Given the description of an element on the screen output the (x, y) to click on. 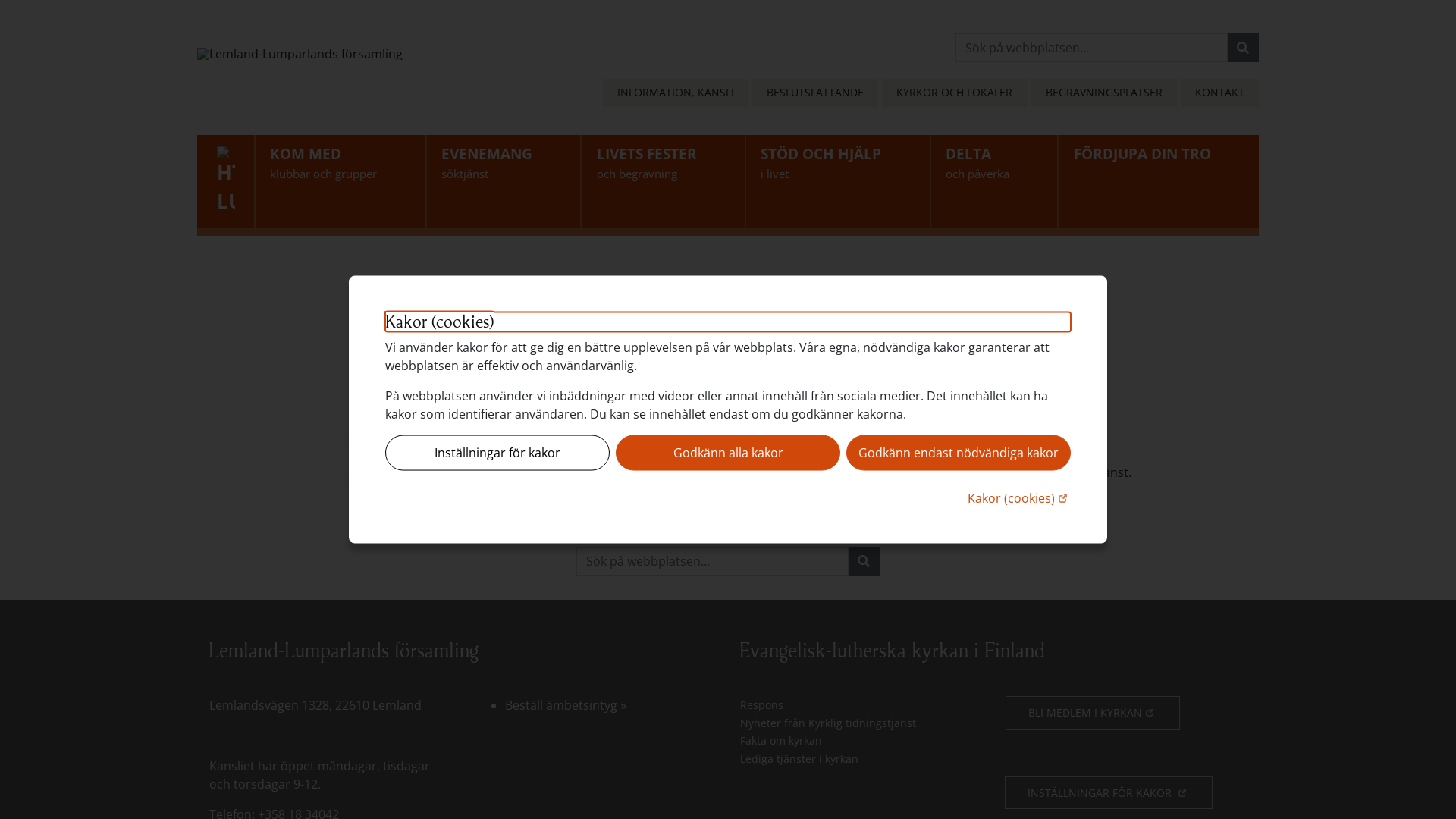
Respons Element type: text (860, 705)
Etusivu Element type: text (511, 507)
KYRKOR OCH LOKALER Element type: text (953, 92)
KONTAKT Element type: text (1219, 92)
INFORMATION, KANSLI Element type: text (675, 92)
LIVETS FESTER
och begravning Element type: text (662, 181)
BEGRAVNINGSPLATSER Element type: text (1103, 92)
BESLUTSFATTANDE Element type: text (815, 92)
KOM MED
klubbar och grupper Element type: text (340, 181)
